Given the description of an element on the screen output the (x, y) to click on. 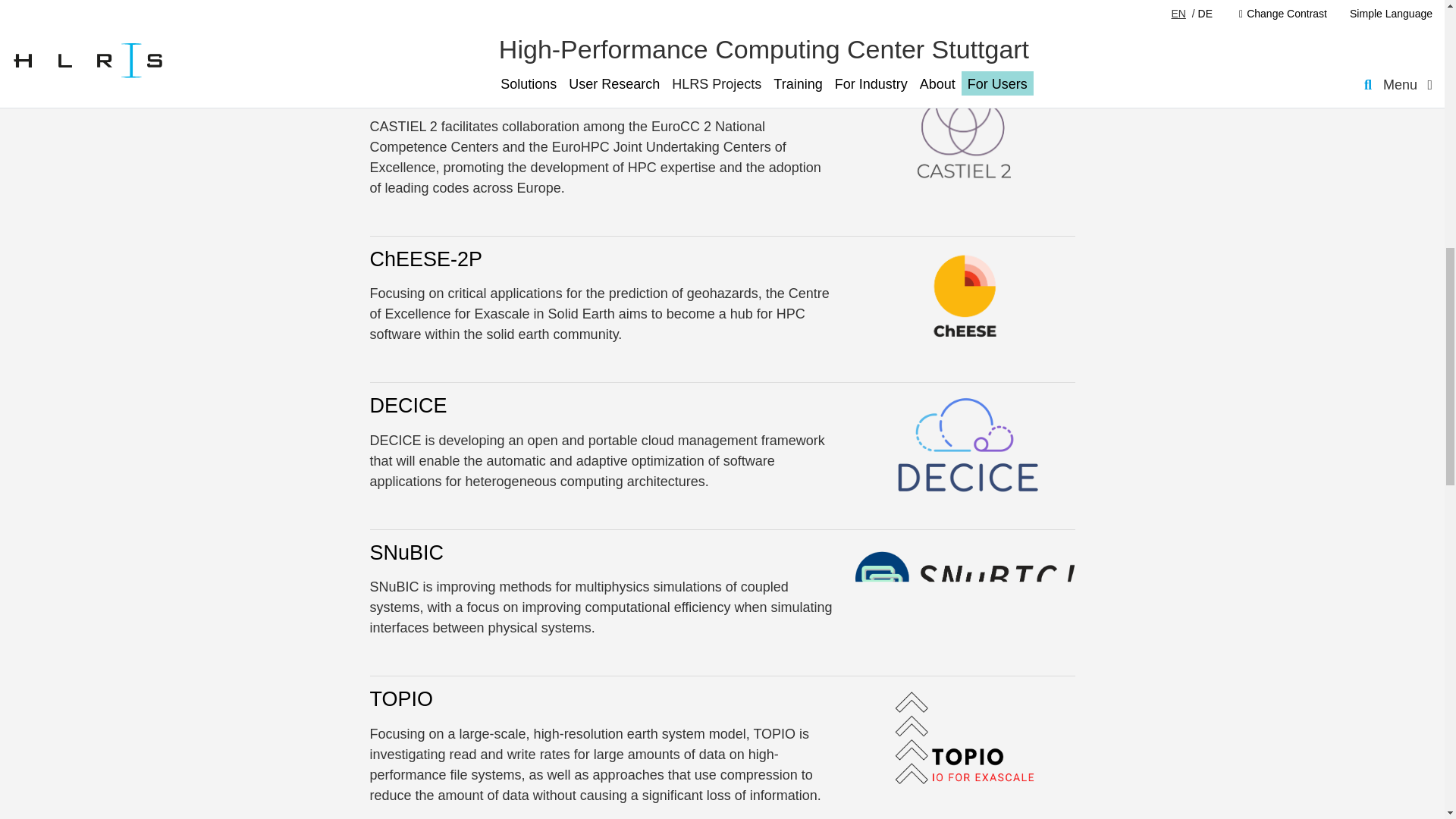
TOPIO (401, 698)
SNuBIC (406, 552)
DECICE (407, 404)
CASTIEL 2 (420, 92)
ChEESE-2P (426, 259)
